Given the description of an element on the screen output the (x, y) to click on. 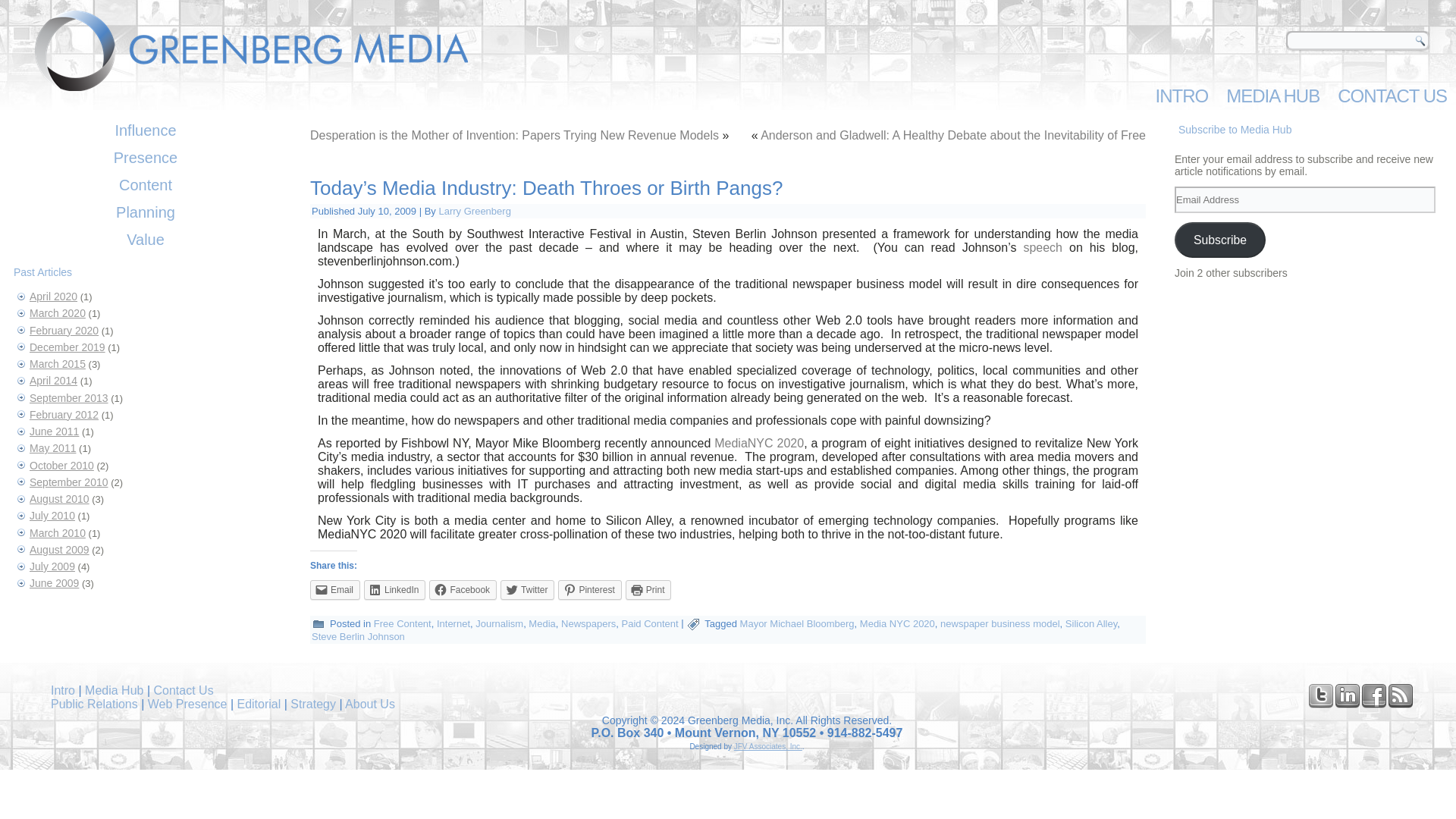
March 2015 (57, 363)
Value (145, 239)
Old Growth Media and the Future of News (1042, 246)
February 2012 (64, 414)
Email (334, 589)
December 2019 (66, 346)
Value (145, 239)
April 2020 (53, 296)
Content (145, 184)
Facebook (462, 589)
Presence (145, 157)
Planning (145, 212)
Print (648, 589)
Larry Greenberg (474, 211)
August 2010 (58, 499)
